Given the description of an element on the screen output the (x, y) to click on. 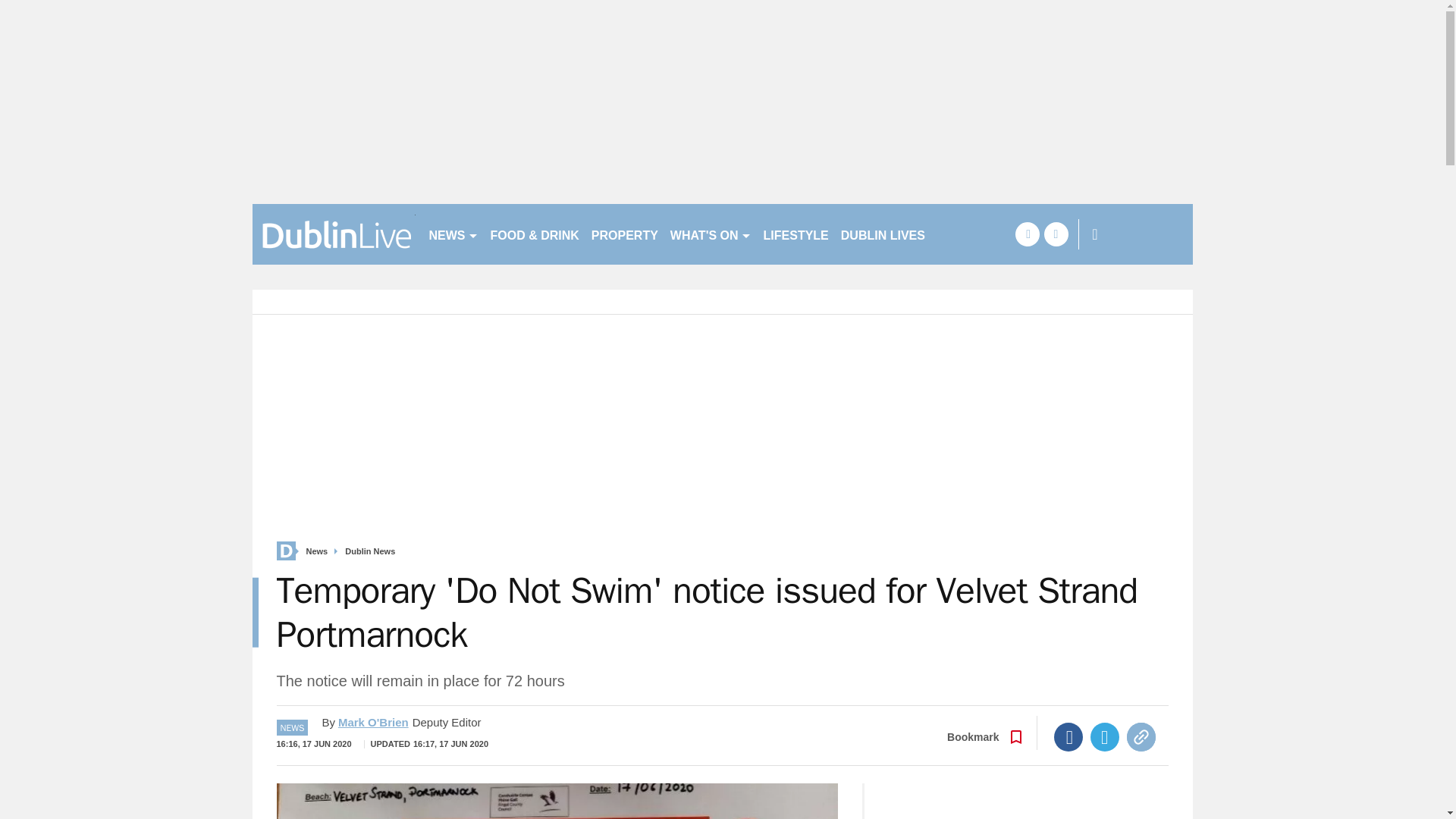
Twitter (1104, 736)
NEWS (453, 233)
LIFESTYLE (795, 233)
twitter (1055, 233)
WHAT'S ON (710, 233)
SOCCER (962, 233)
Facebook (1068, 736)
PROPERTY (624, 233)
DUBLIN LIVES (882, 233)
facebook (1026, 233)
